Given the description of an element on the screen output the (x, y) to click on. 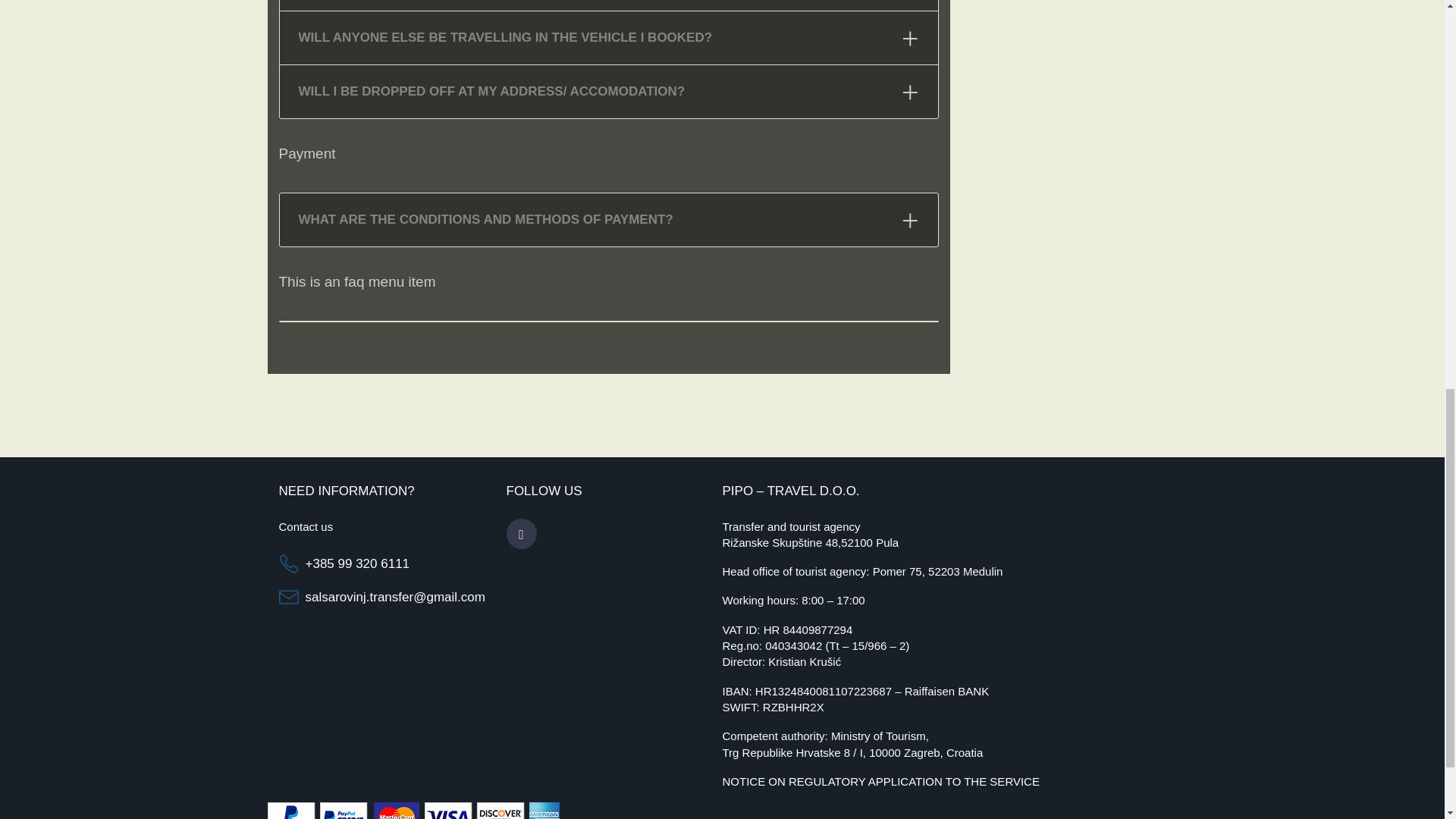
facebook (521, 534)
NOTICE ON REGULATORY APPLICATION TO THE SERVICE (880, 780)
